Given the description of an element on the screen output the (x, y) to click on. 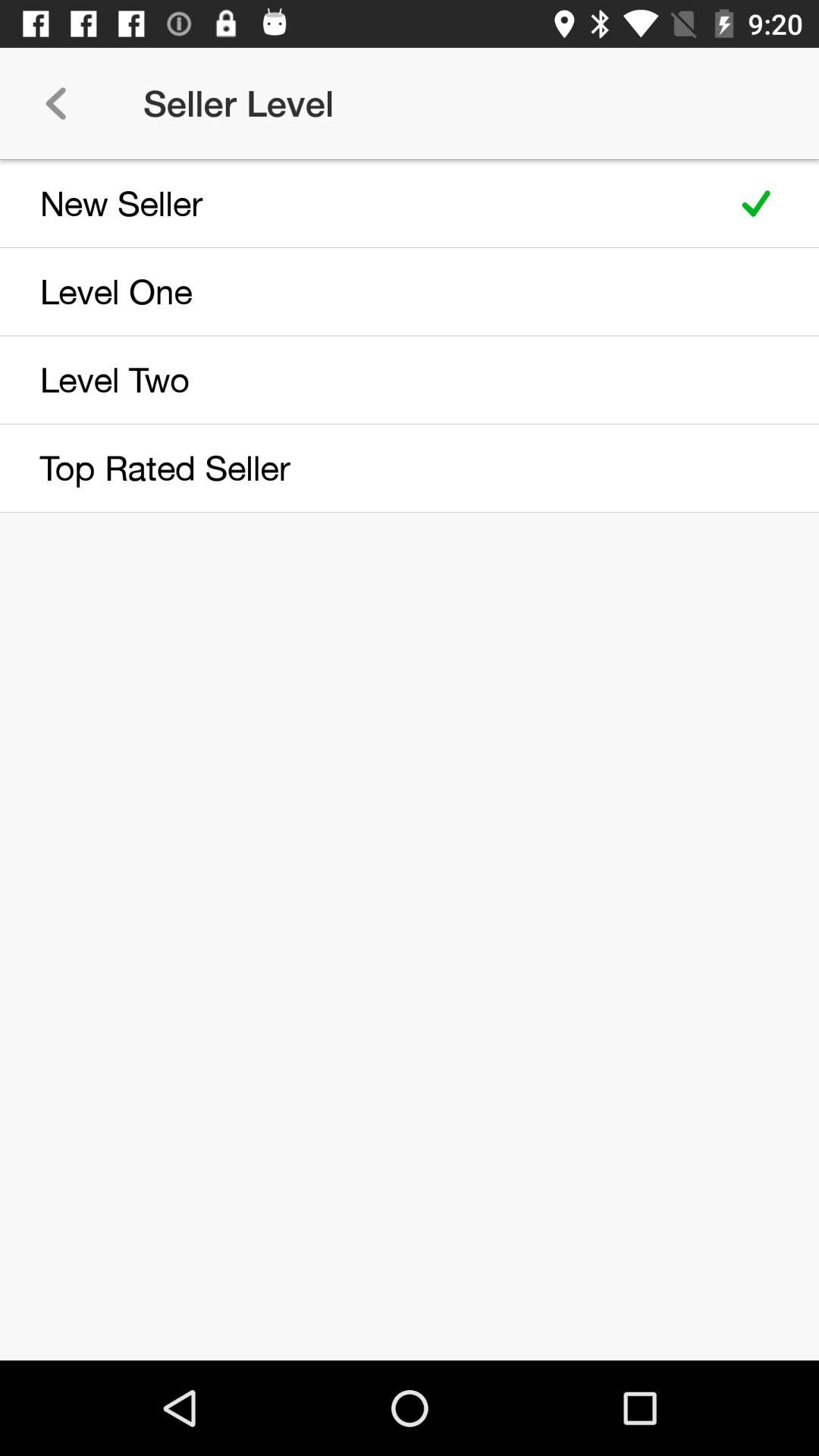
choose the icon above top rated seller (358, 379)
